Given the description of an element on the screen output the (x, y) to click on. 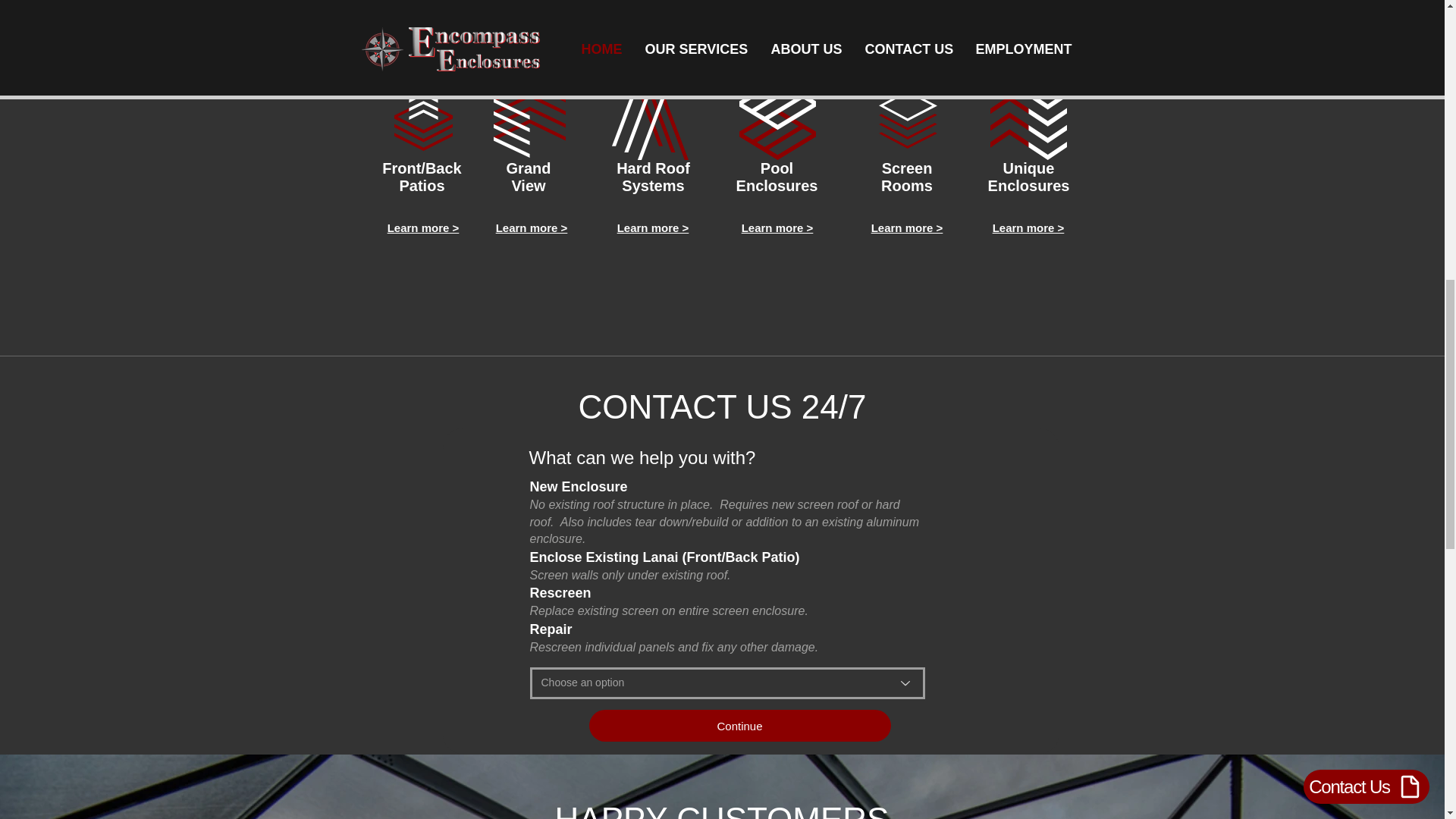
Continue (738, 726)
